Given the description of an element on the screen output the (x, y) to click on. 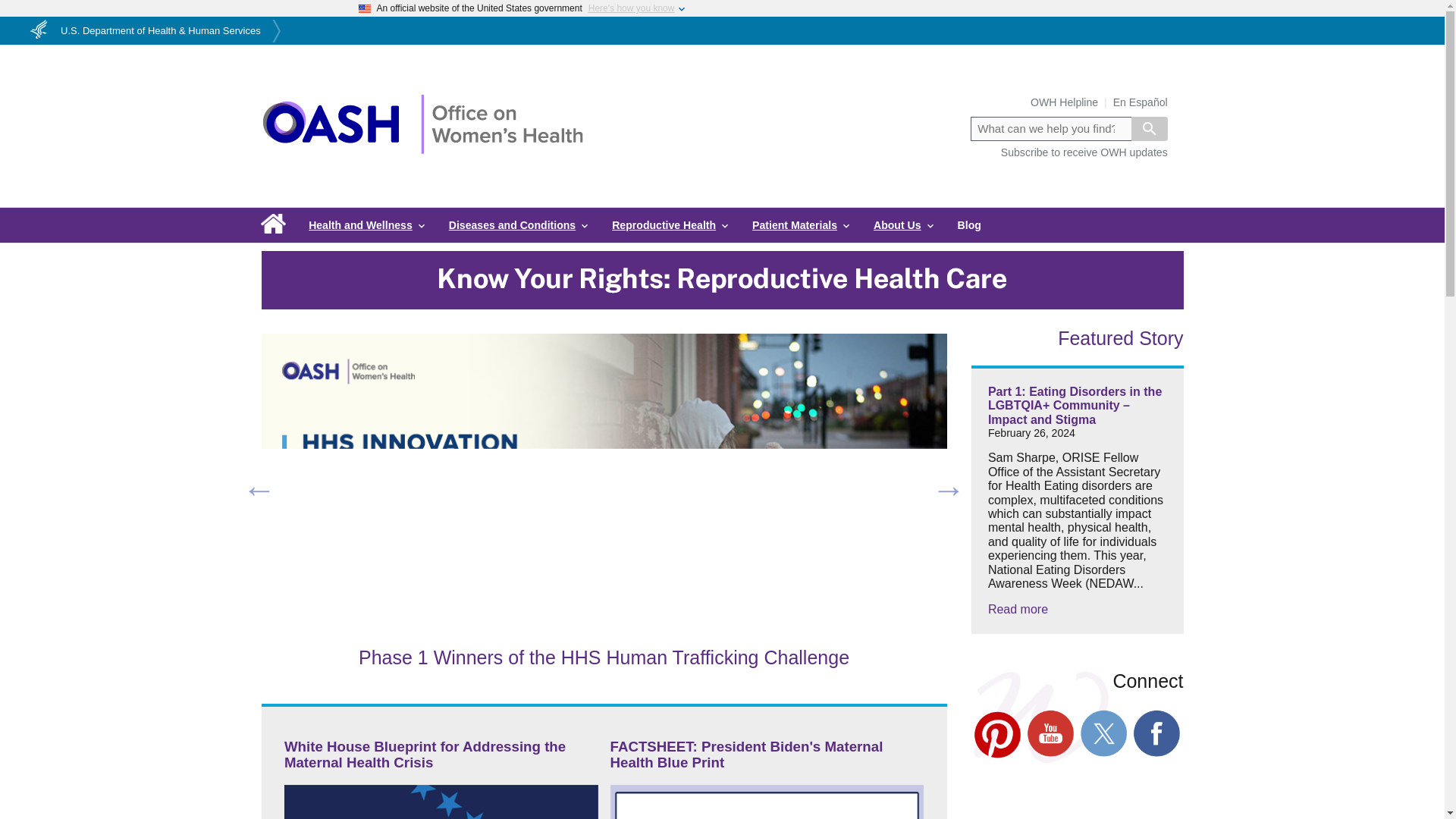
Phase 1 Winners of the HHS Human Trafficking Challenge (603, 657)
FACTSHEET: President Biden's Maternal Health Blue Print (746, 754)
Health and Wellness (366, 225)
Previous (259, 488)
Blog (968, 225)
Home (422, 149)
Here's how you know (631, 8)
Subscribe to receive OWH updates (1084, 152)
Diseases and Conditions (517, 225)
Reproductive Health (669, 225)
